Given the description of an element on the screen output the (x, y) to click on. 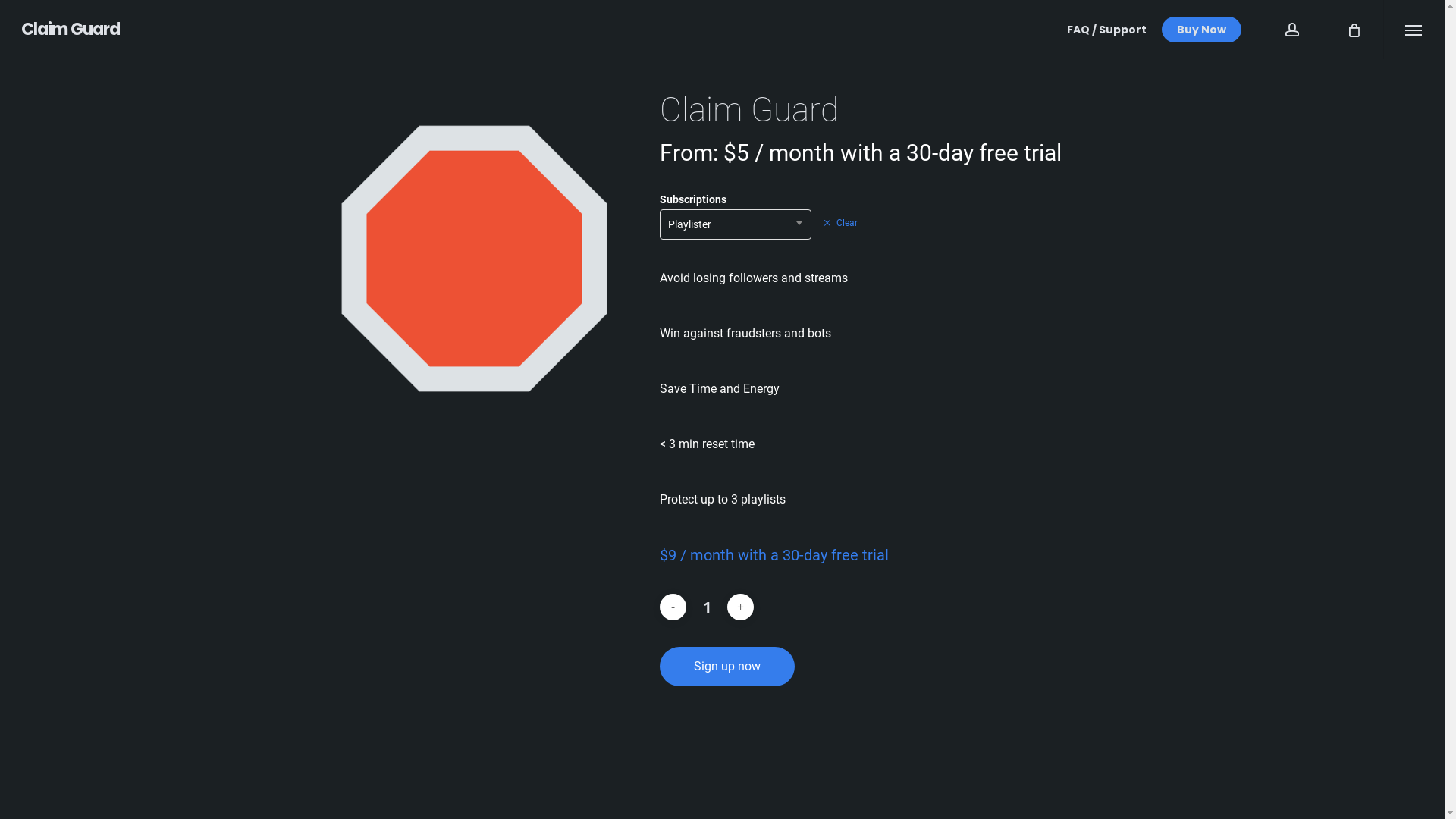
Buy Now Element type: text (1201, 29)
PRODUCT IMAGE Element type: hover (473, 258)
Sign up now Element type: text (726, 666)
Claim Guard Element type: text (70, 29)
Menu Element type: text (1413, 29)
FAQ / Support Element type: text (1106, 29)
Qty Element type: hover (706, 606)
Clear Element type: text (839, 222)
account Element type: text (1293, 29)
